Given the description of an element on the screen output the (x, y) to click on. 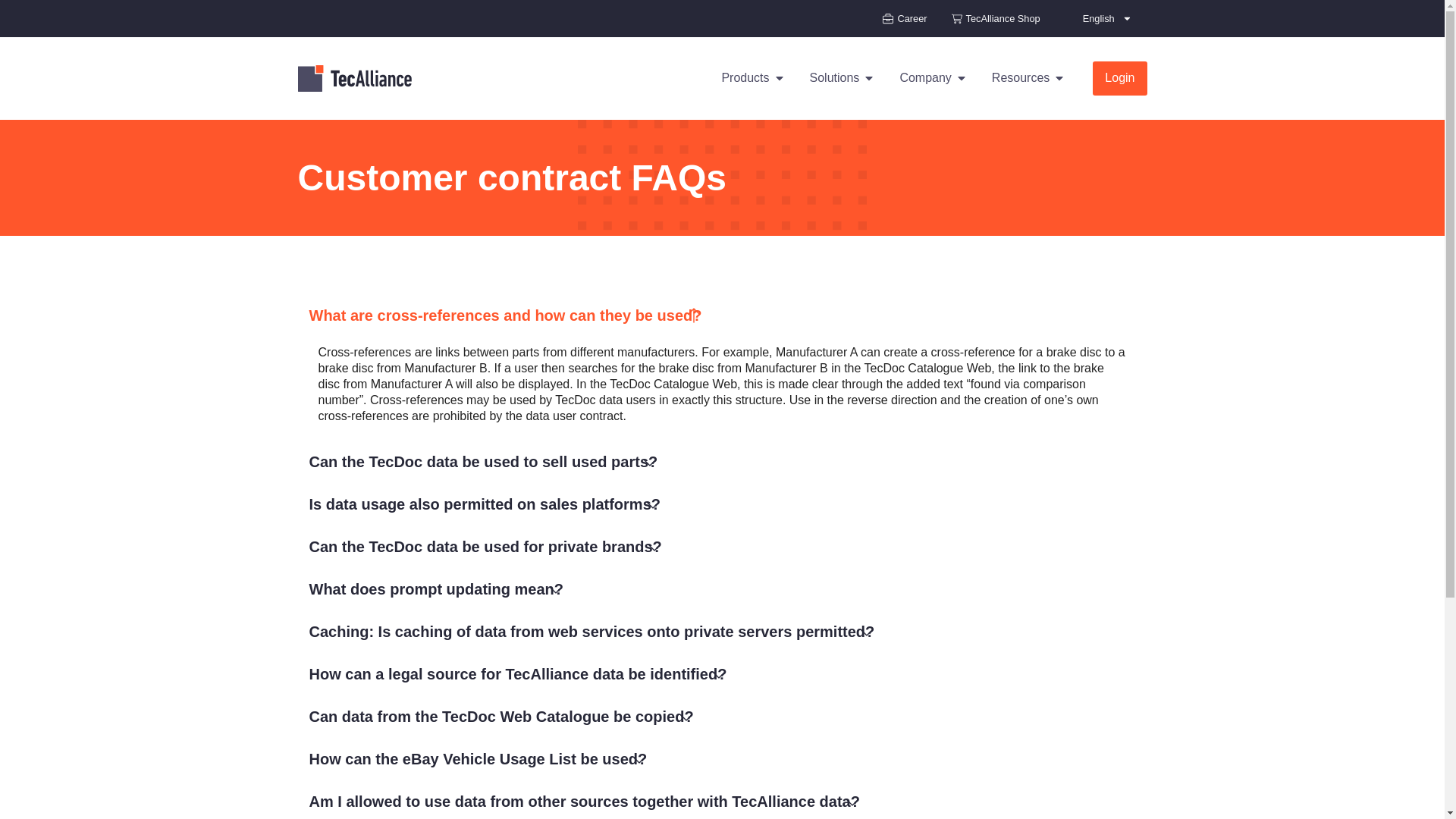
TecAlliance Shop (996, 18)
Career (904, 18)
English (1107, 18)
